Given the description of an element on the screen output the (x, y) to click on. 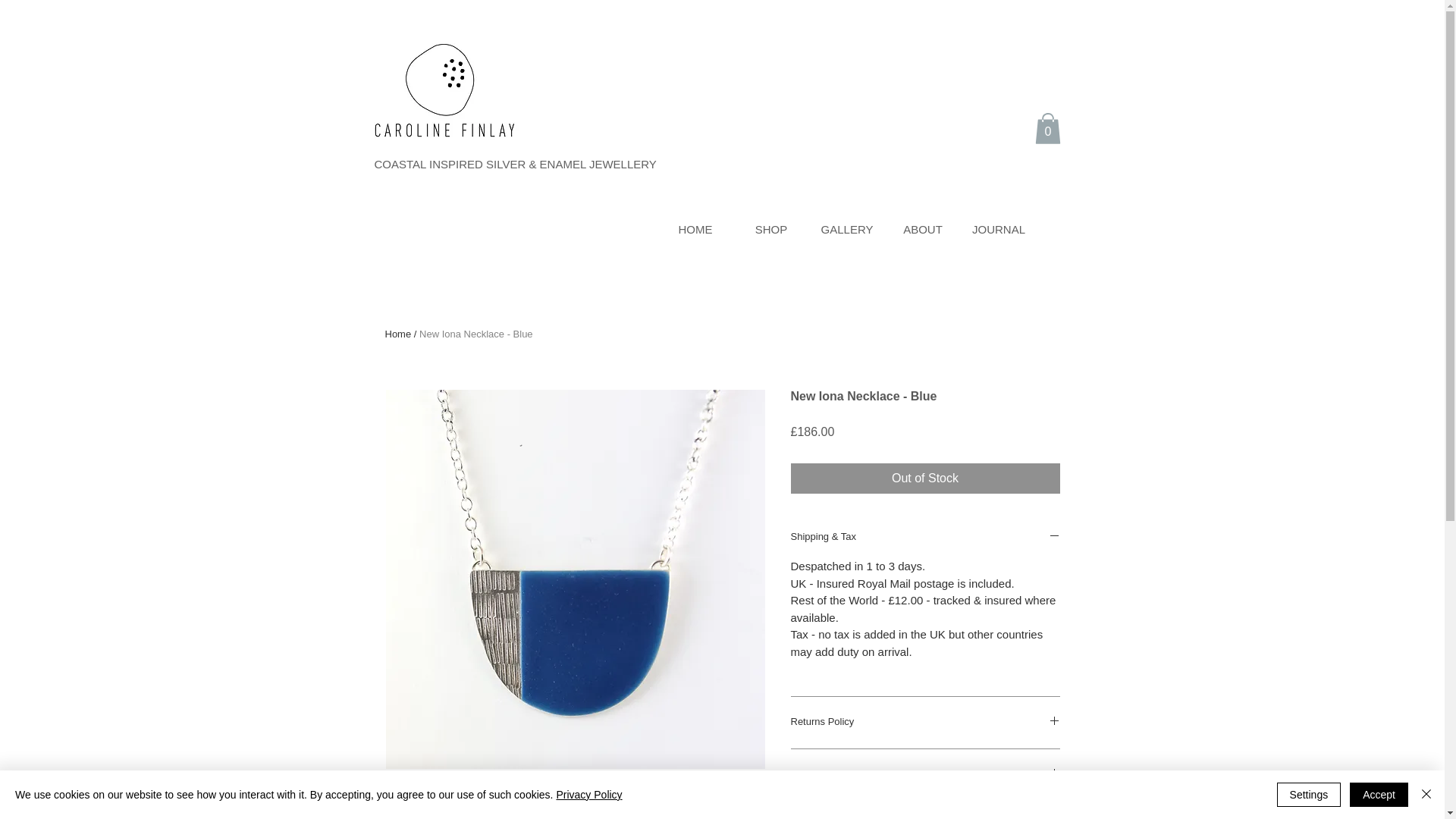
Home (398, 333)
HOME (695, 229)
Caroline Finlay (442, 89)
Returns Policy (924, 722)
ABOUT (922, 229)
Care Instructions (924, 774)
New Iona Necklace - Blue (475, 333)
SHOP (771, 229)
Out of Stock (924, 478)
JOURNAL (998, 229)
GALLERY (847, 229)
